Given the description of an element on the screen output the (x, y) to click on. 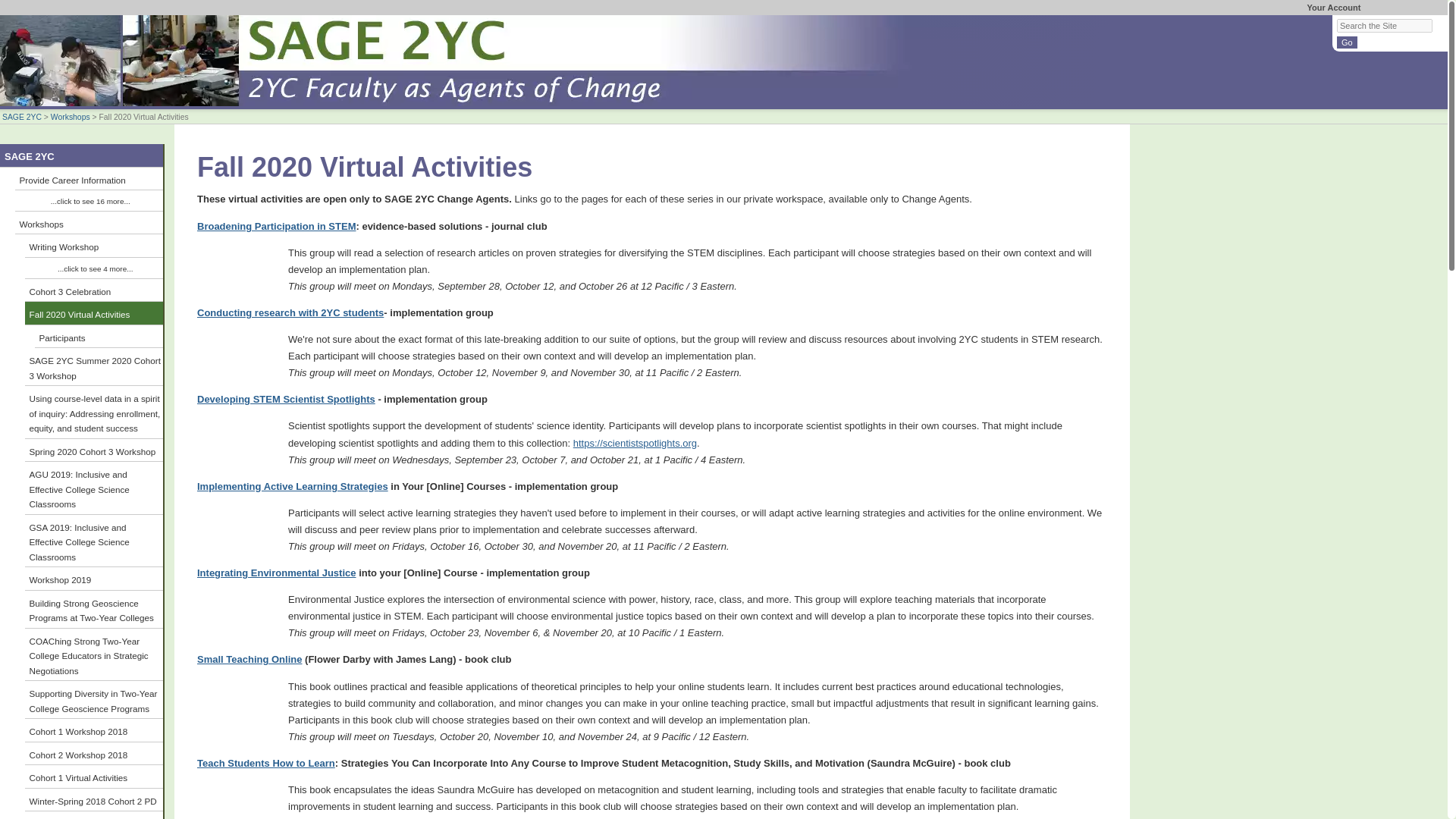
...click to see 16 more... (88, 200)
Provide Career Information (88, 178)
Writing Workshop (93, 245)
Small Teaching Online (248, 659)
Workshops (70, 117)
Integrating Environmental Justice (276, 572)
Teach Students How to Learn (265, 763)
Implementing Active Learning Strategies (292, 486)
Broadening Participation in STEM (275, 225)
Go (1346, 42)
Go (1346, 42)
Workshops (88, 223)
SAGE 2YC (81, 155)
Conducting research with 2YC students (290, 312)
SAGE 2YC (22, 117)
